Given the description of an element on the screen output the (x, y) to click on. 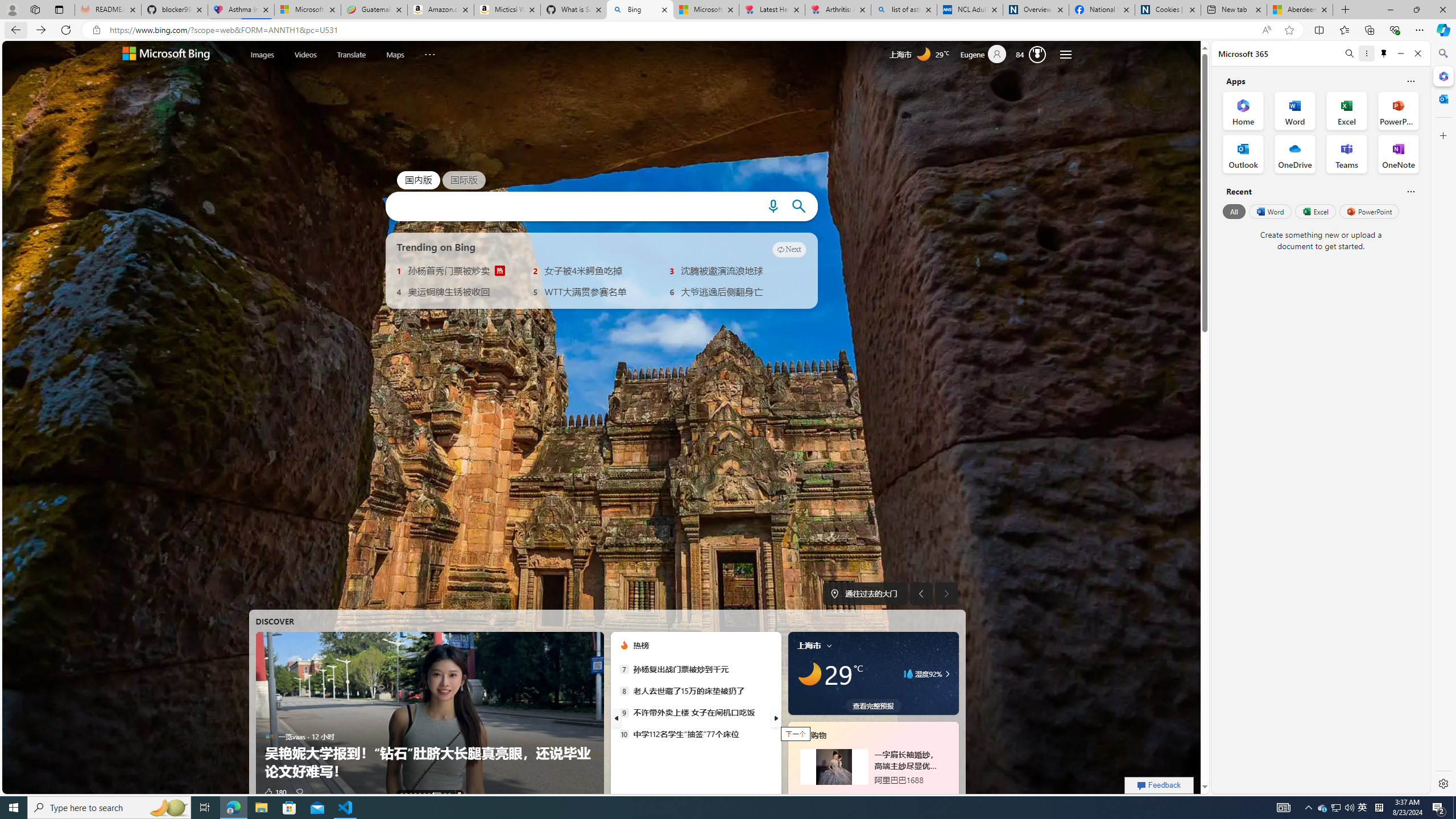
AutomationID: tab-0 (400, 793)
AutomationID: tab-1 (405, 793)
Is this helpful? (1410, 191)
Outlook Office App (1243, 154)
AutomationID: tab-5 (424, 793)
